Given the description of an element on the screen output the (x, y) to click on. 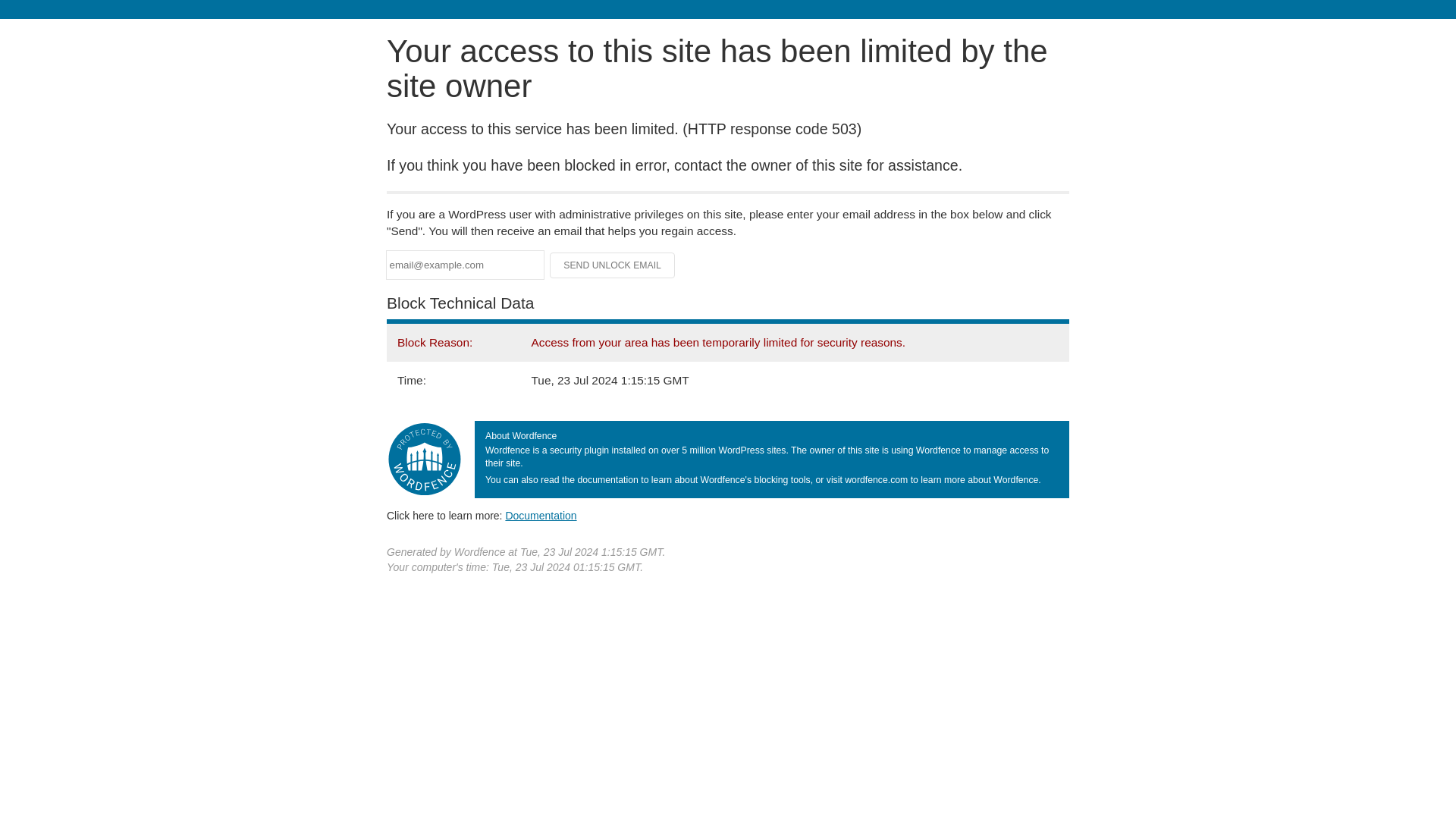
Documentation (540, 515)
Send Unlock Email (612, 265)
Send Unlock Email (612, 265)
